Given the description of an element on the screen output the (x, y) to click on. 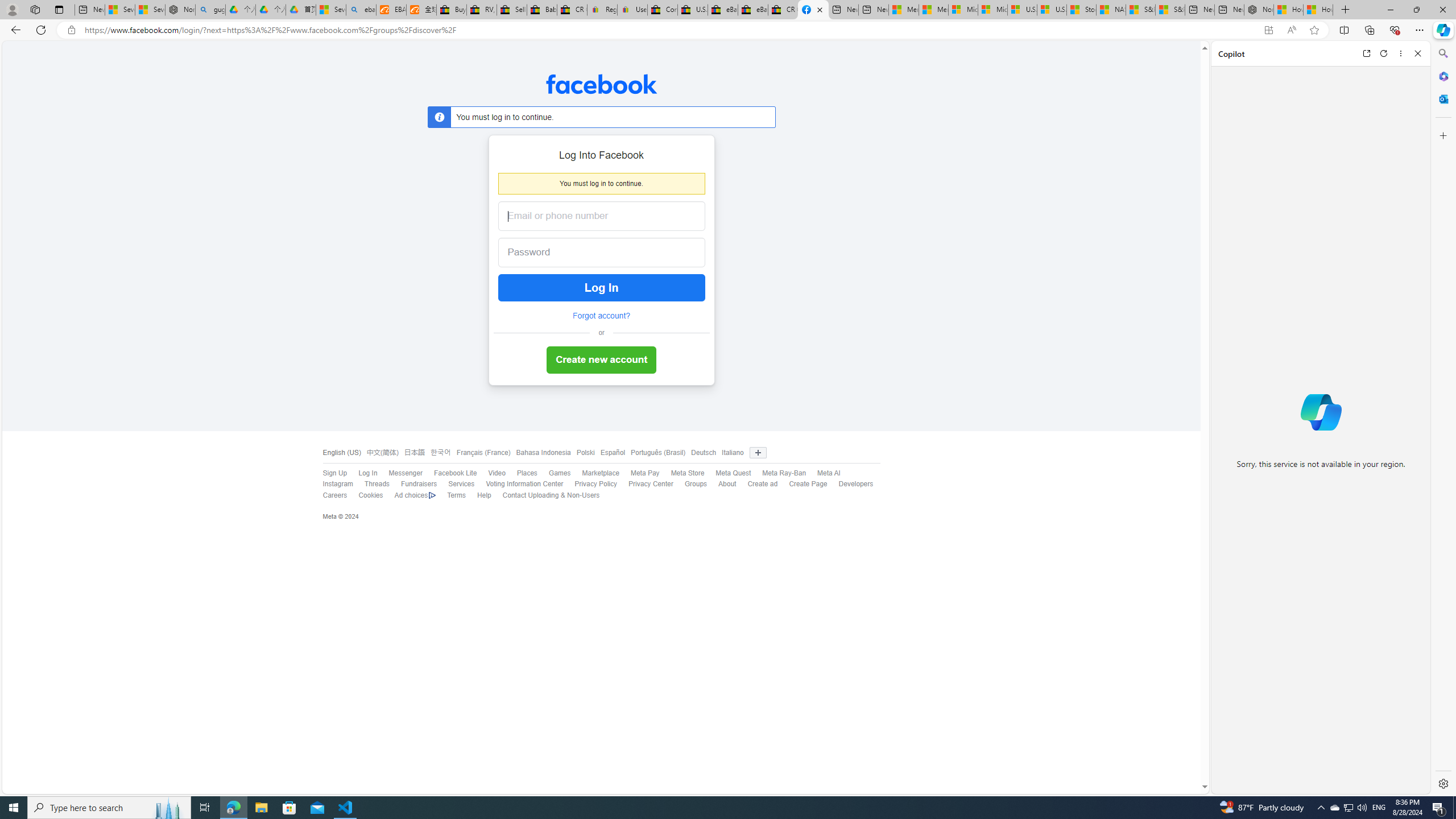
Open link in new tab (1366, 53)
Meta Pay (638, 473)
Careers (329, 495)
Voting Information Center (524, 483)
S&P 500, Nasdaq end lower, weighed by Nvidia dip | Watch (1169, 9)
Terms (455, 494)
Sign Up (334, 473)
Deutsch (700, 452)
Services (455, 484)
guge yunpan - Search (210, 9)
Meta Store (687, 473)
